Given the description of an element on the screen output the (x, y) to click on. 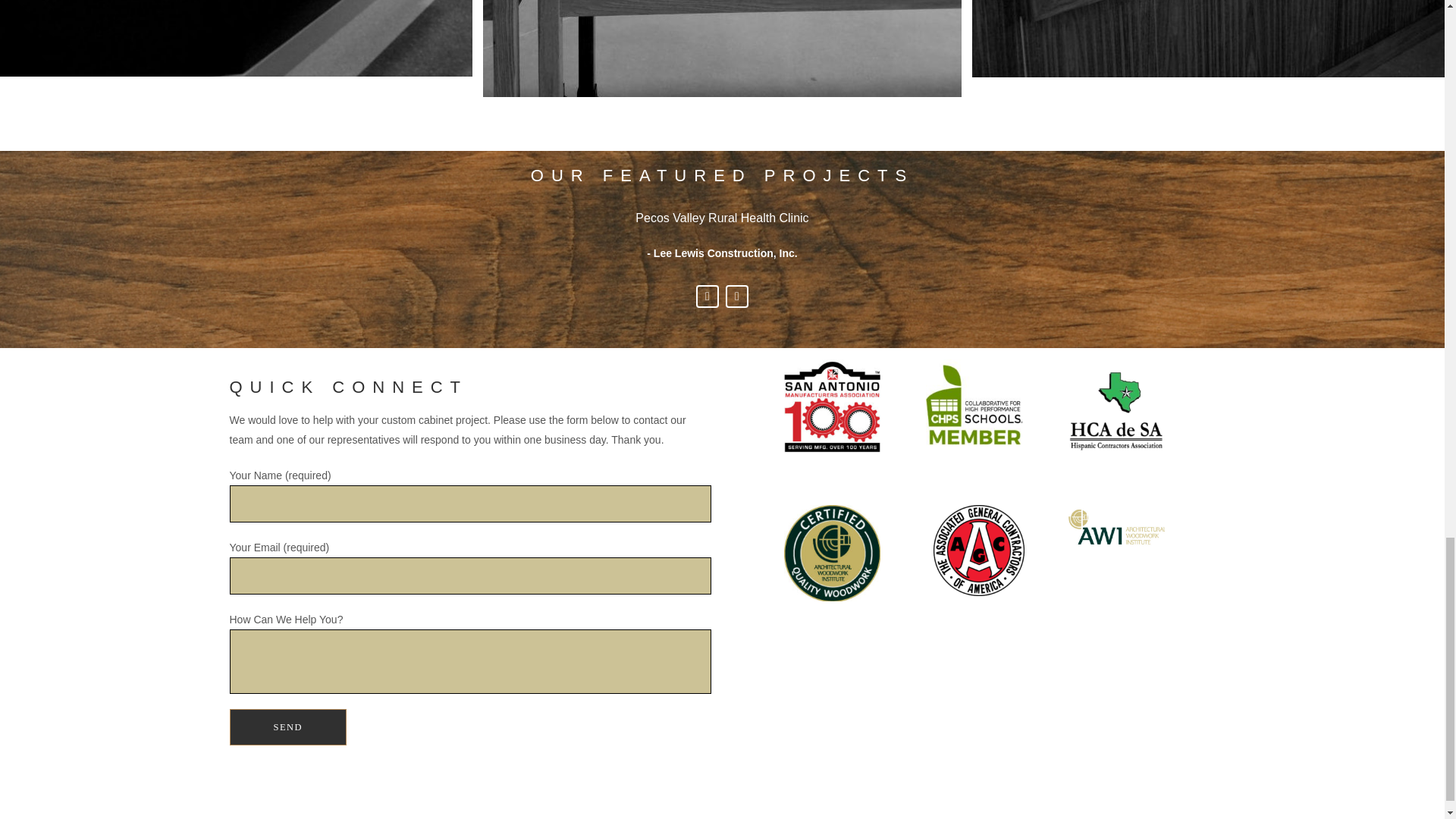
HCA2-cropped (1116, 407)
Previous (707, 296)
CHPS Square (974, 407)
Next (736, 296)
Send (287, 727)
AGC Square 2 (979, 550)
QCPclr (832, 553)
Send (287, 727)
